Given the description of an element on the screen output the (x, y) to click on. 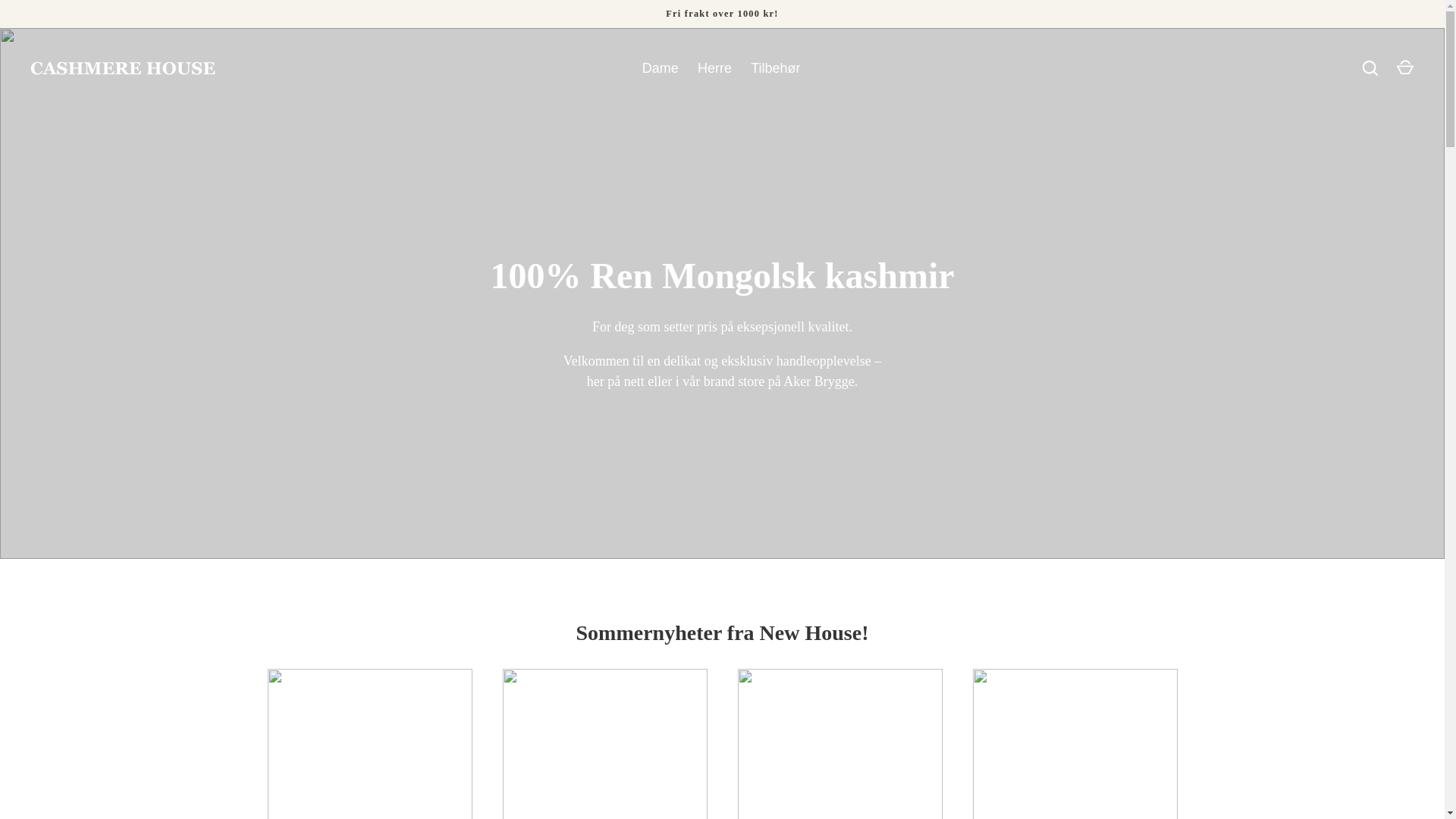
Dame (659, 68)
Herre (714, 68)
